Given the description of an element on the screen output the (x, y) to click on. 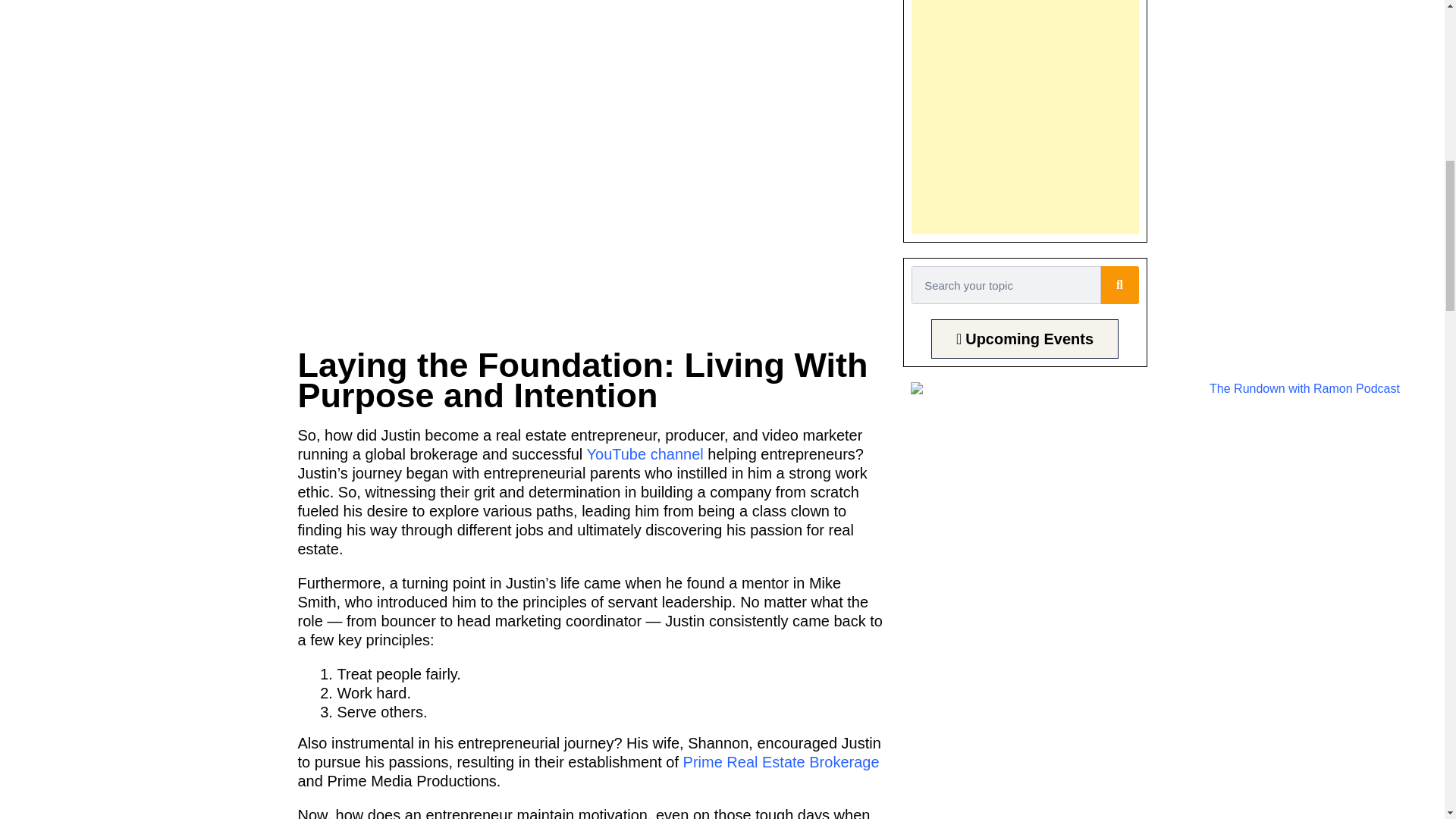
Upcoming Events (1024, 338)
YouTube channel (644, 453)
Prime Real Estate Brokerage (780, 761)
